Given the description of an element on the screen output the (x, y) to click on. 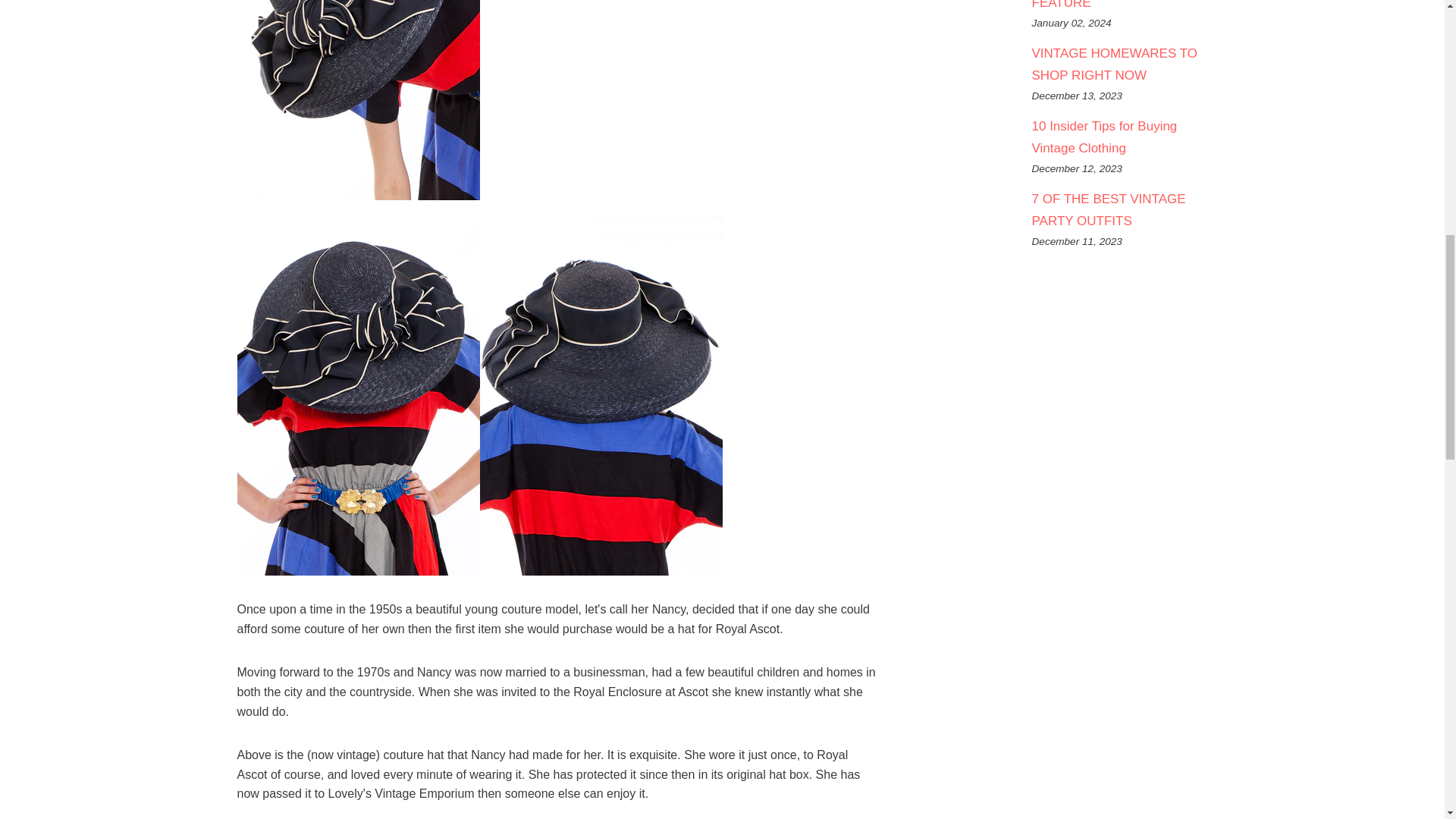
7 OF THE BEST VINTAGE PARTY OUTFITS (1107, 209)
VINTAGE HOMEWARES TO SHOP RIGHT NOW (1113, 63)
10 Insider Tips for Buying Vintage Clothing (1103, 136)
